Given the description of an element on the screen output the (x, y) to click on. 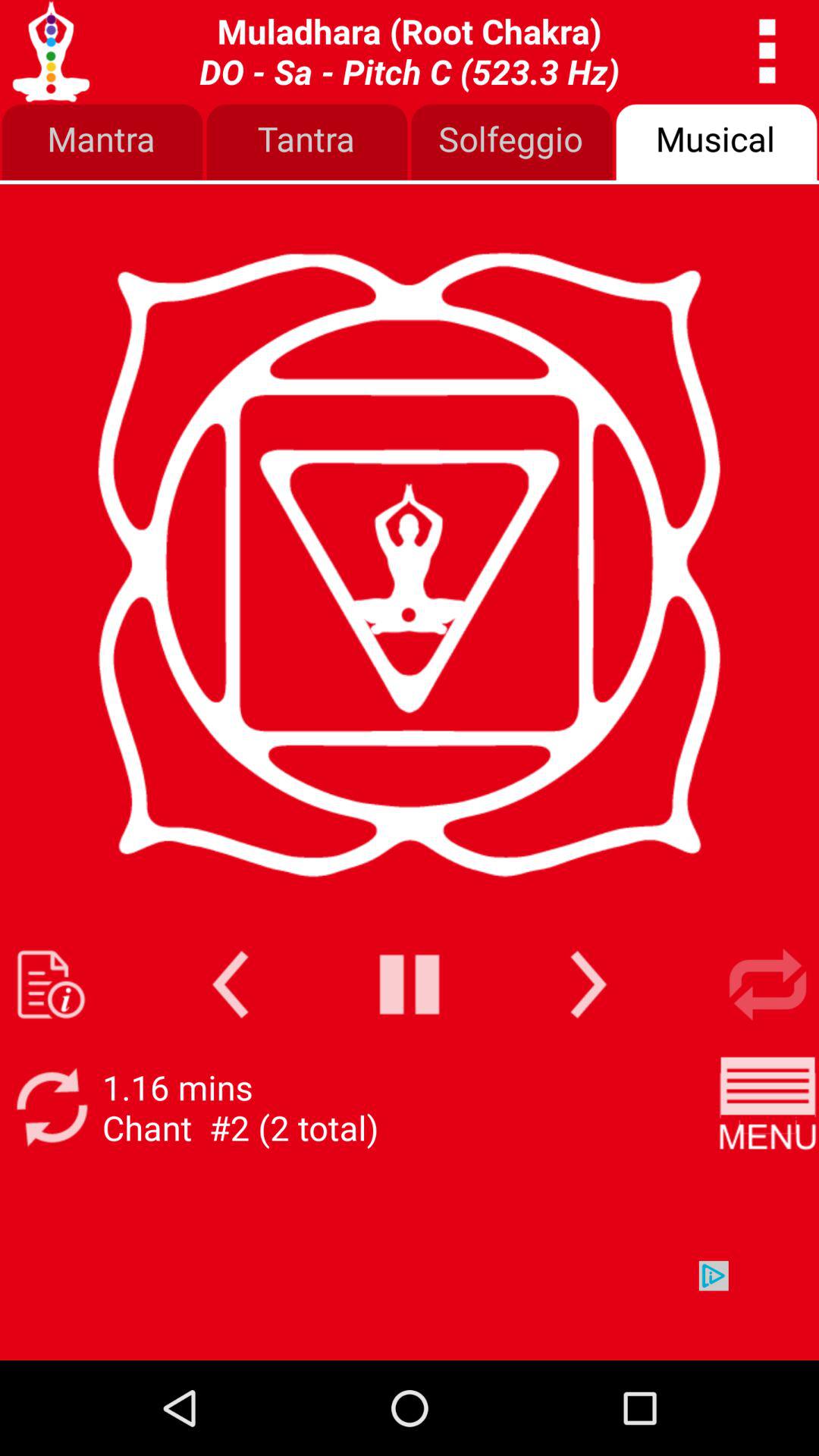
swipe until the 1 17 mins (240, 1107)
